Given the description of an element on the screen output the (x, y) to click on. 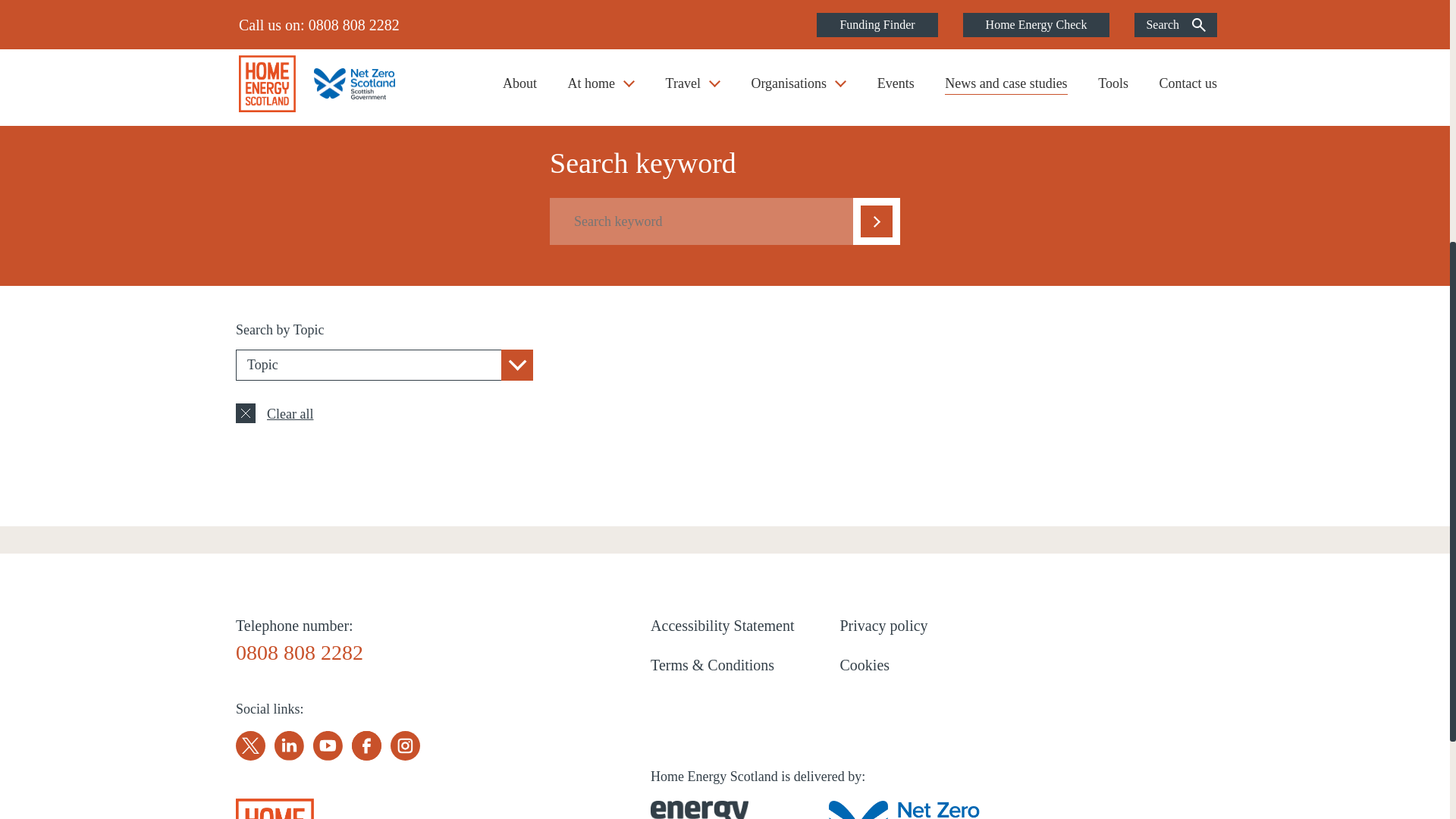
Instagram (405, 745)
Facebook (366, 745)
LinkedIn (289, 745)
Twitter (249, 745)
Youtube (327, 745)
